Given the description of an element on the screen output the (x, y) to click on. 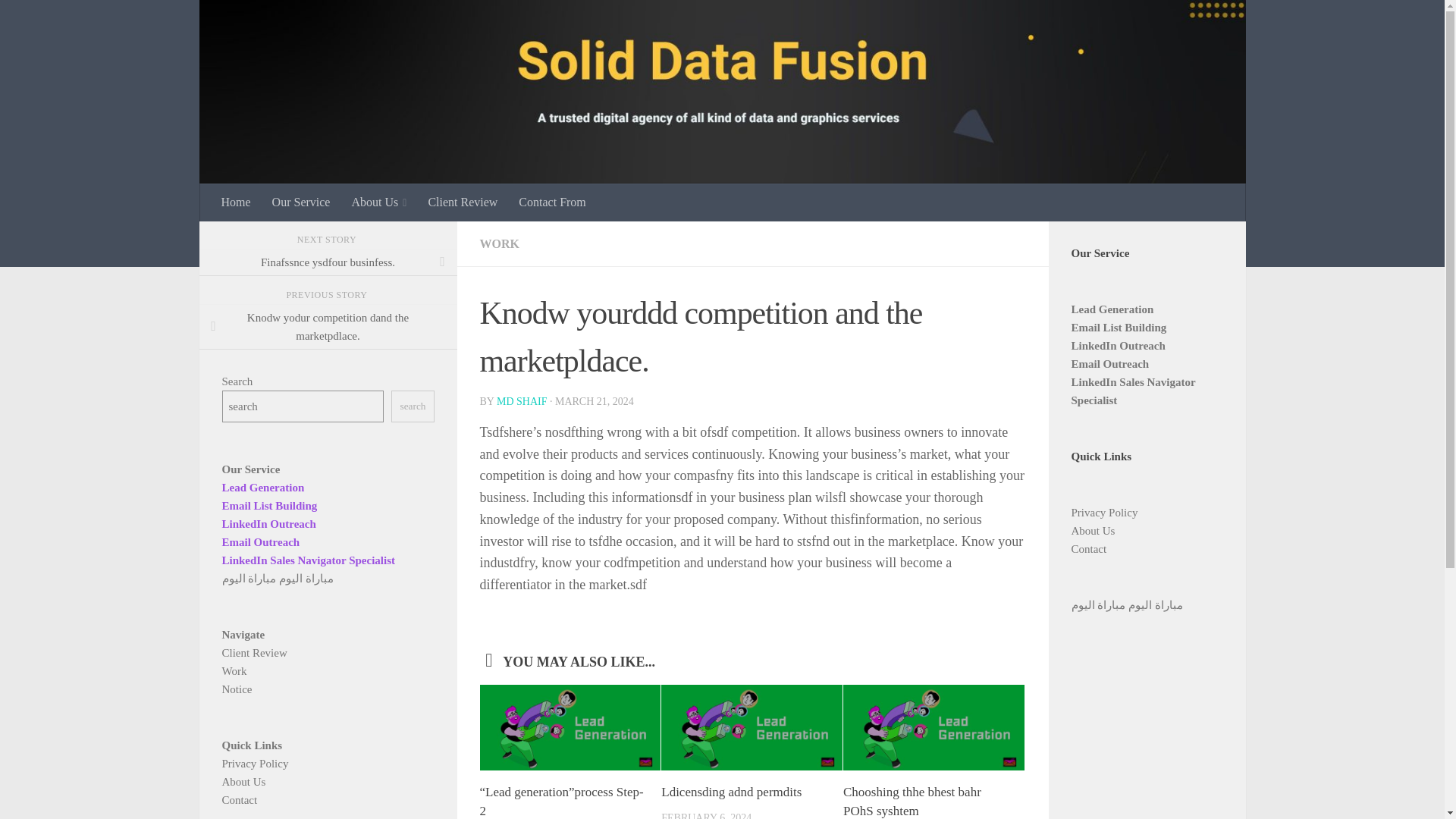
Finafssnce ysdfour businfess. (327, 262)
Knodw yodur competition dand the marketpdlace. (327, 326)
Chooshing thhe bhest bahr POhS syshtem (912, 801)
Email Outreach (260, 541)
Lead Generation (262, 486)
Our Service (301, 202)
LinkedIn Outreach (268, 522)
Email List Building (269, 504)
About Us (378, 202)
Client Review (462, 202)
